Given the description of an element on the screen output the (x, y) to click on. 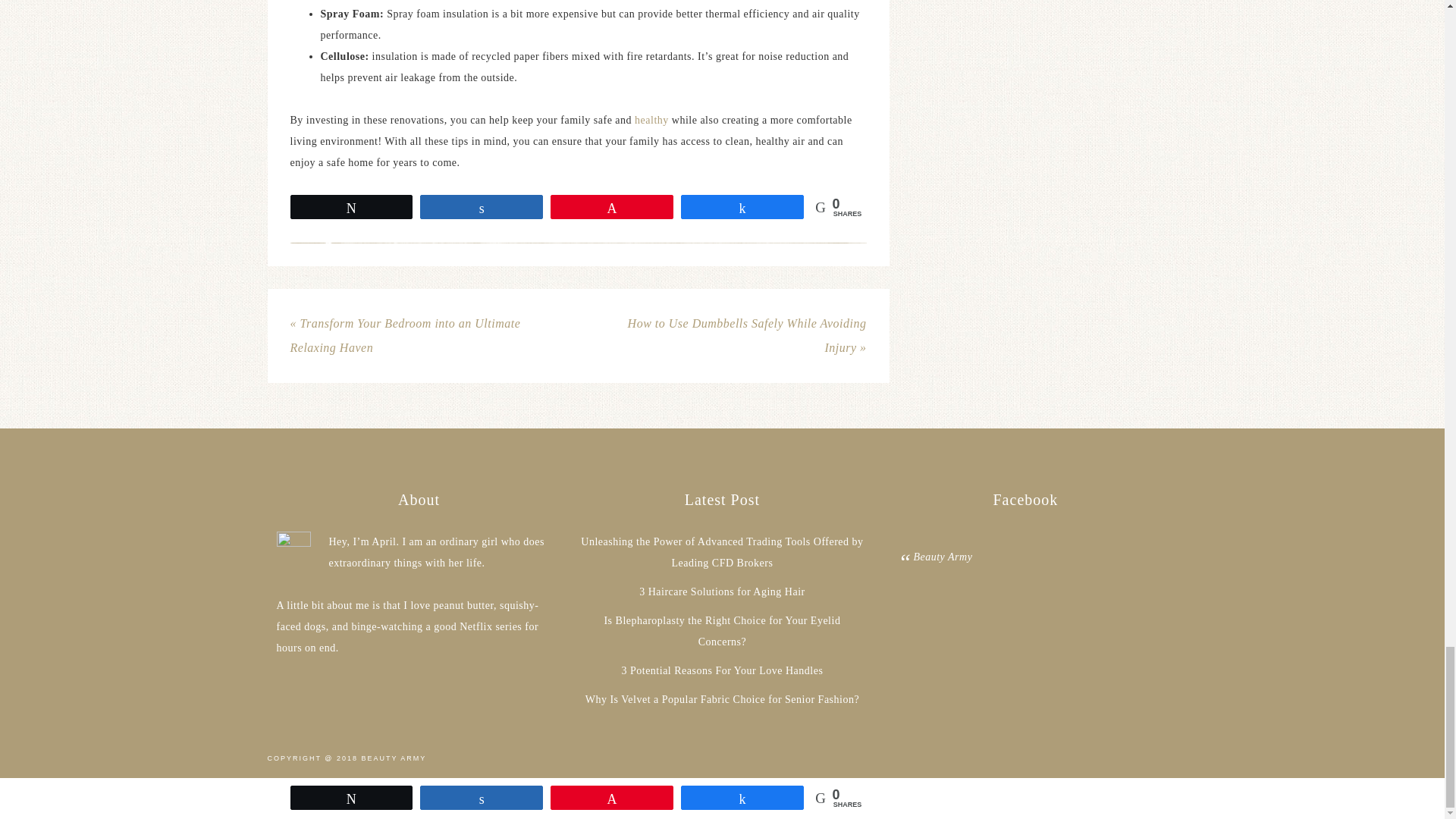
3 Haircare Solutions for Aging Hair (722, 591)
healthy (651, 120)
